Given the description of an element on the screen output the (x, y) to click on. 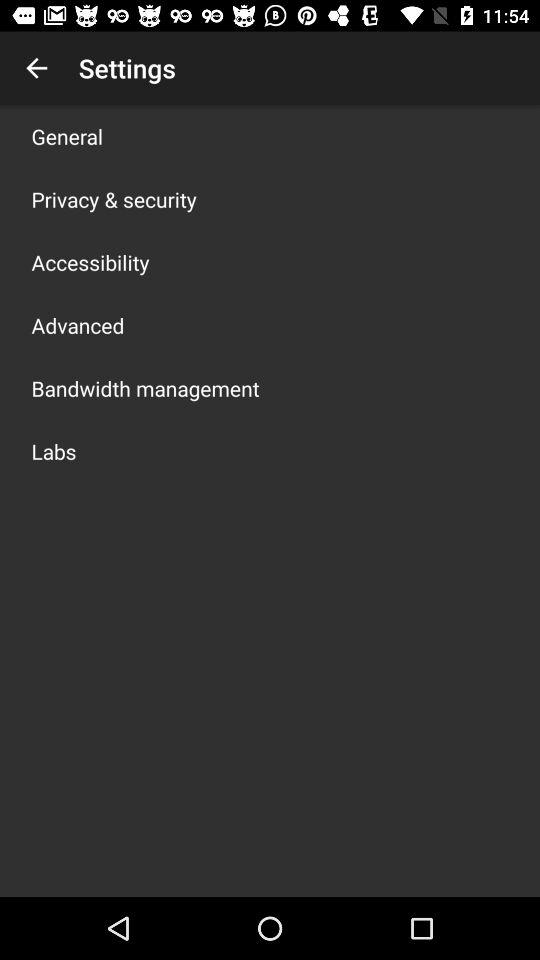
click the icon below privacy & security app (90, 262)
